Given the description of an element on the screen output the (x, y) to click on. 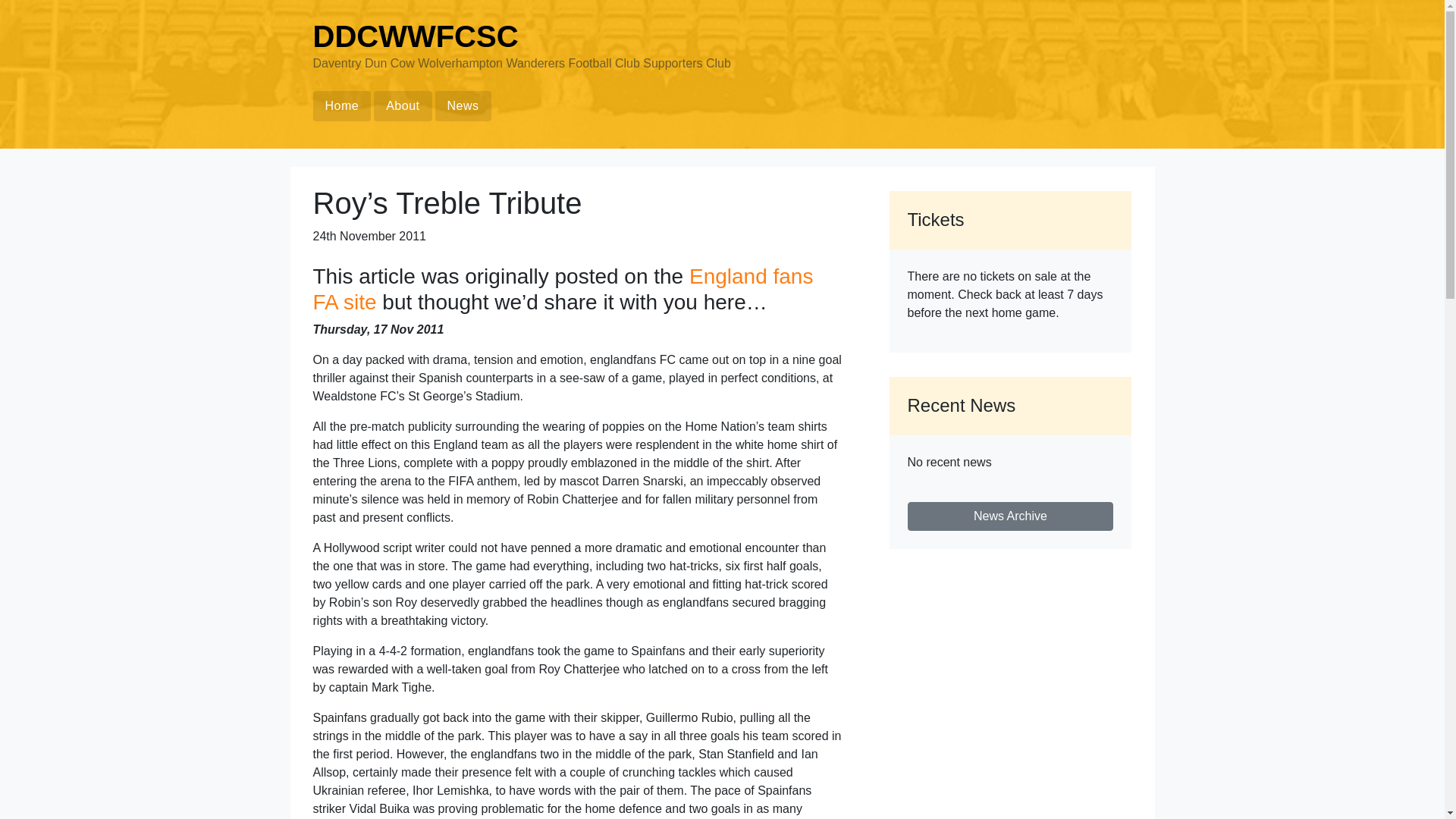
Home (342, 105)
About (402, 105)
DDCWWFCSC (415, 36)
News (463, 105)
England fans FA site (562, 288)
News Archive (1010, 516)
